Given the description of an element on the screen output the (x, y) to click on. 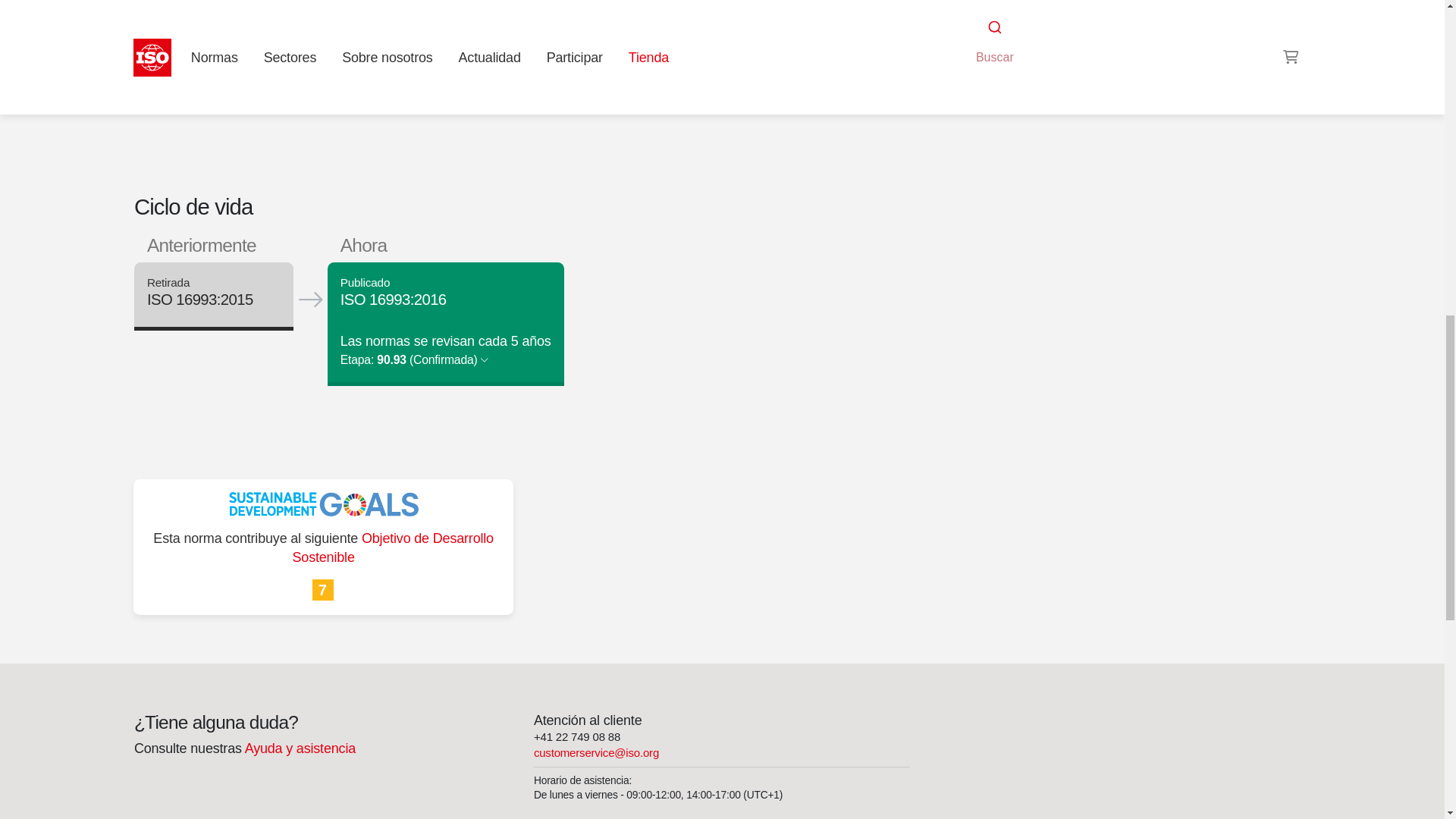
Biofuels (1045, 40)
75.160.40 (1045, 40)
Solid Biofuels and Pyrogenic Biocarbon (1073, 22)
Biological sources and alternative sources of energy (988, 40)
27.190 (988, 40)
